Given the description of an element on the screen output the (x, y) to click on. 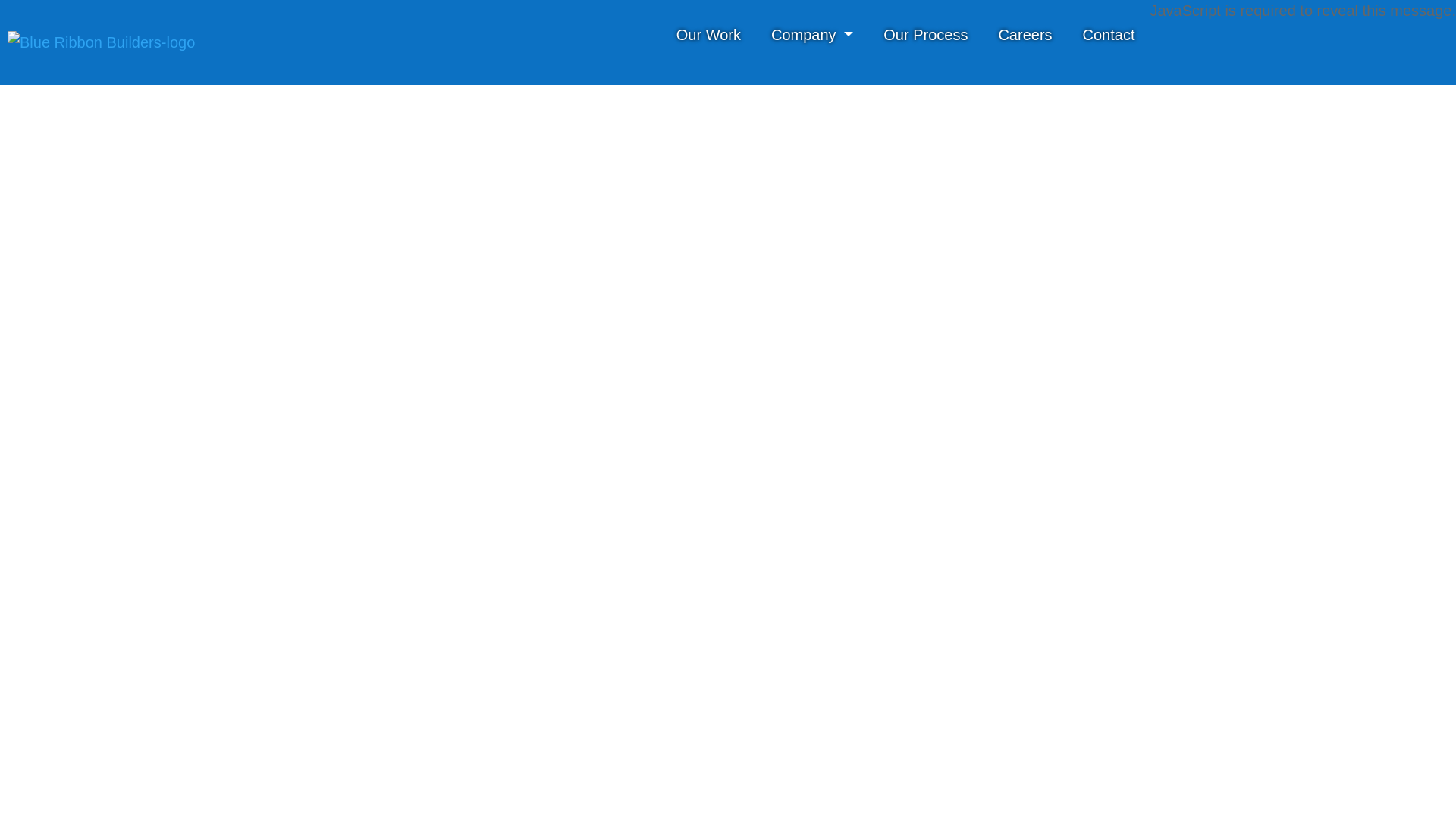
Contact (1108, 34)
Our Process (924, 34)
Company (811, 34)
Careers (1024, 34)
Our Work (708, 34)
